Given the description of an element on the screen output the (x, y) to click on. 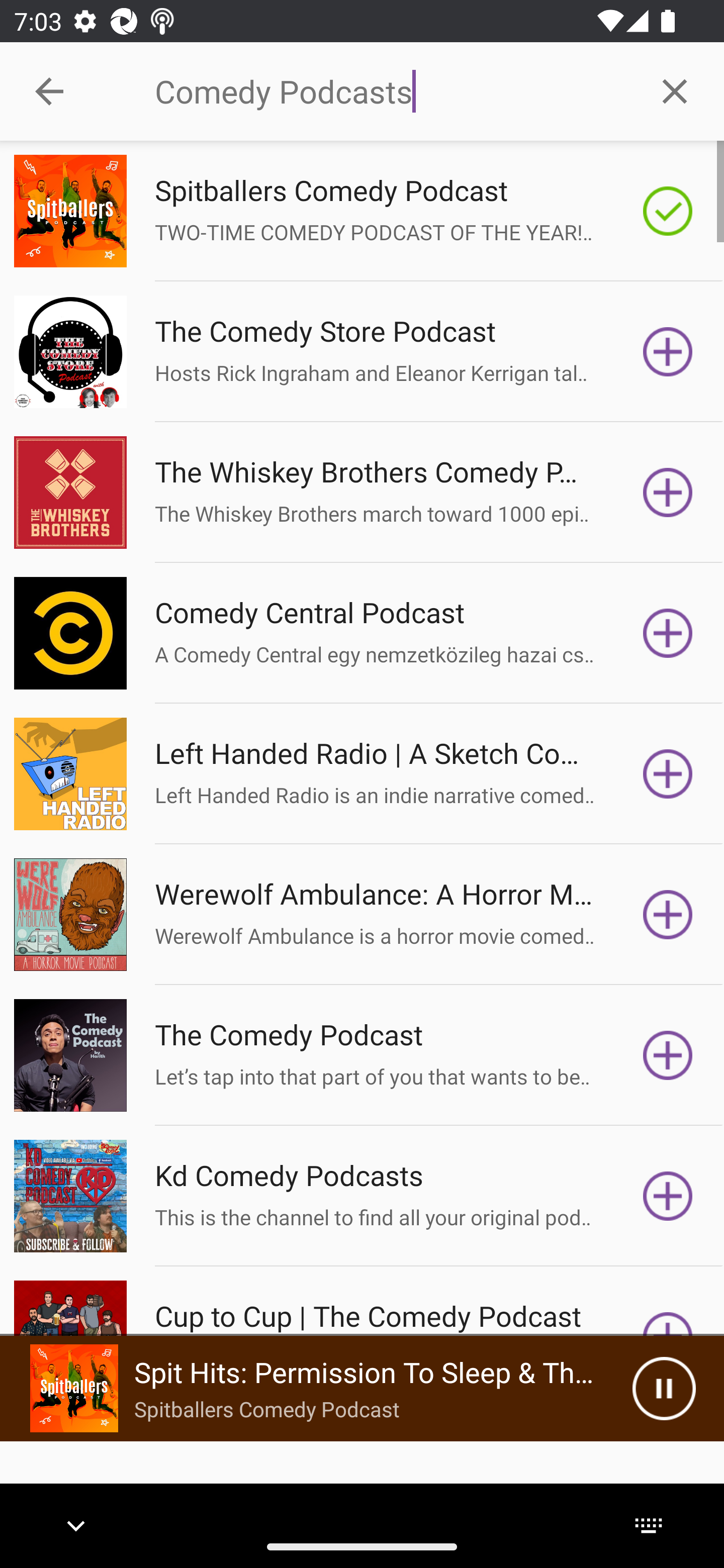
Collapse (49, 91)
Clear query (674, 90)
Comedy Podcasts (389, 91)
Subscribed (667, 211)
Subscribe (667, 350)
Subscribe (667, 491)
Subscribe (667, 633)
Subscribe (667, 773)
Subscribe (667, 913)
Subscribe (667, 1054)
Subscribe (667, 1195)
Pause (663, 1388)
